Given the description of an element on the screen output the (x, y) to click on. 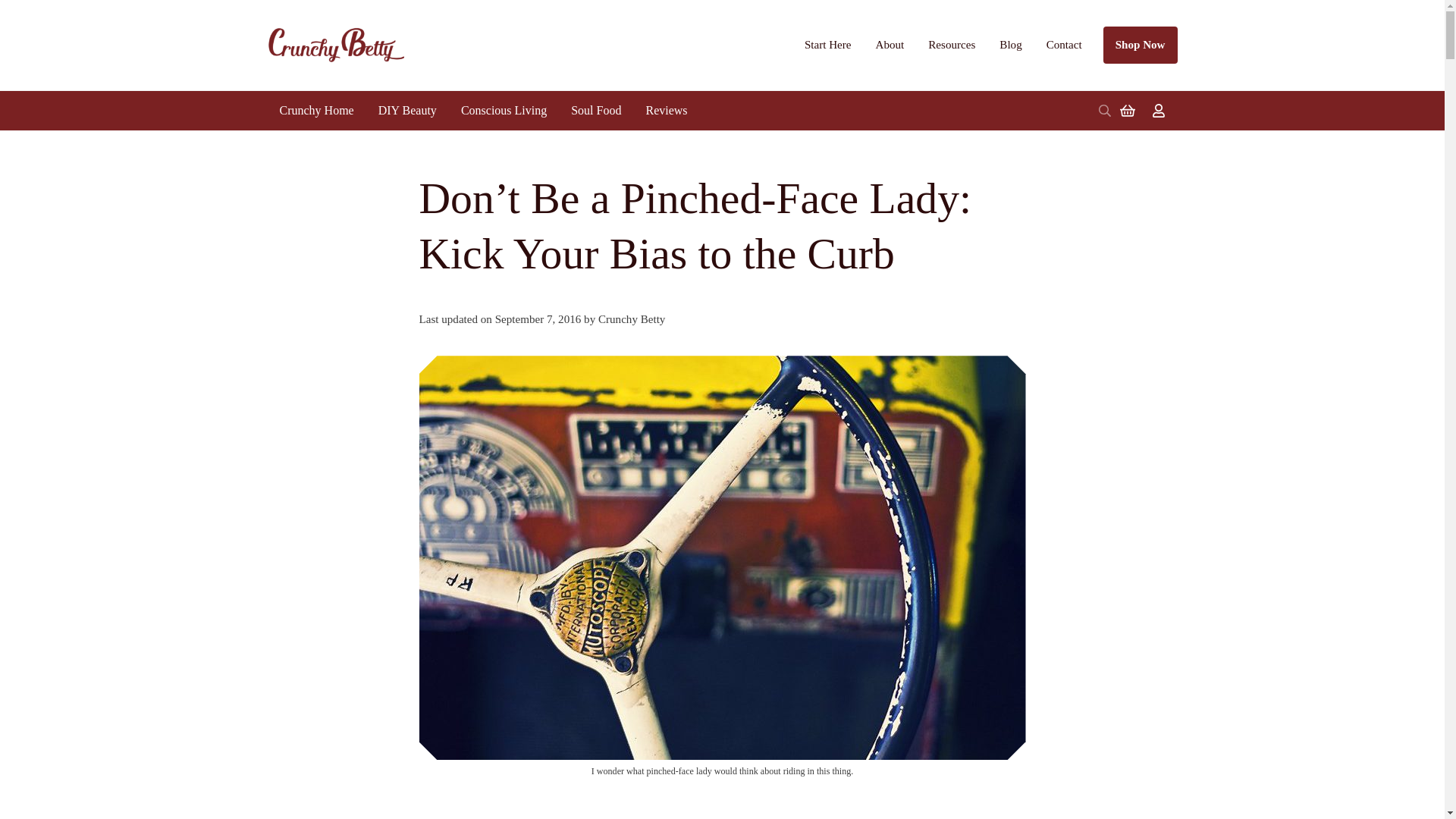
Crunchy Home (315, 110)
Conscious Living (503, 110)
Search (1104, 110)
Shop Now (1140, 44)
Blog (1010, 44)
DIY Beauty (407, 110)
Resources (951, 44)
Soul Food (596, 110)
Contact (1063, 44)
Reviews (665, 110)
Start Here (827, 44)
About (890, 44)
